Given the description of an element on the screen output the (x, y) to click on. 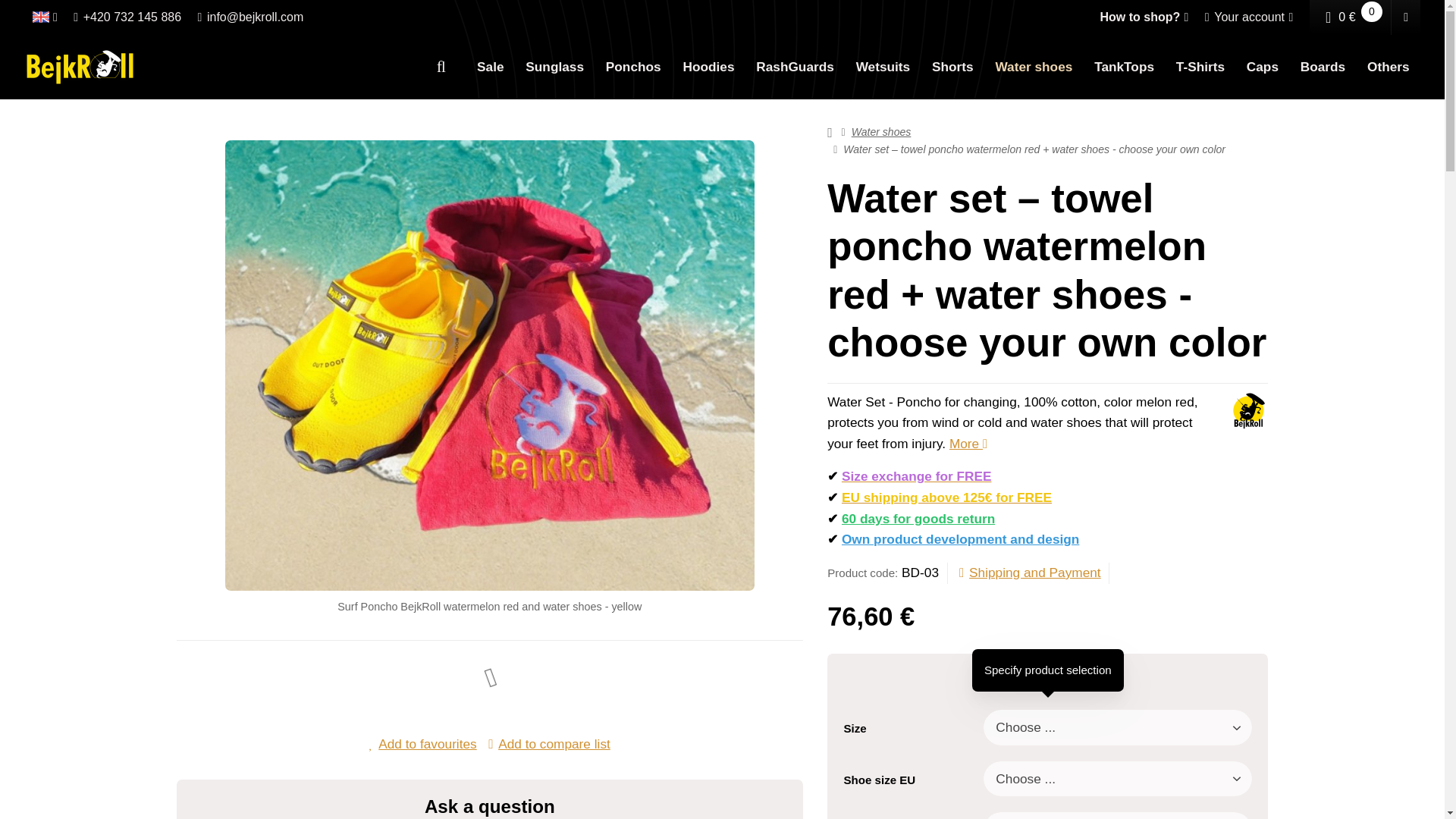
Go to Cart (1350, 17)
Home (79, 66)
Phone (127, 17)
Email (250, 17)
How to shop? (1144, 17)
Your account (1248, 17)
Search (441, 66)
Open menu (44, 17)
0 item (1371, 11)
